Given the description of an element on the screen output the (x, y) to click on. 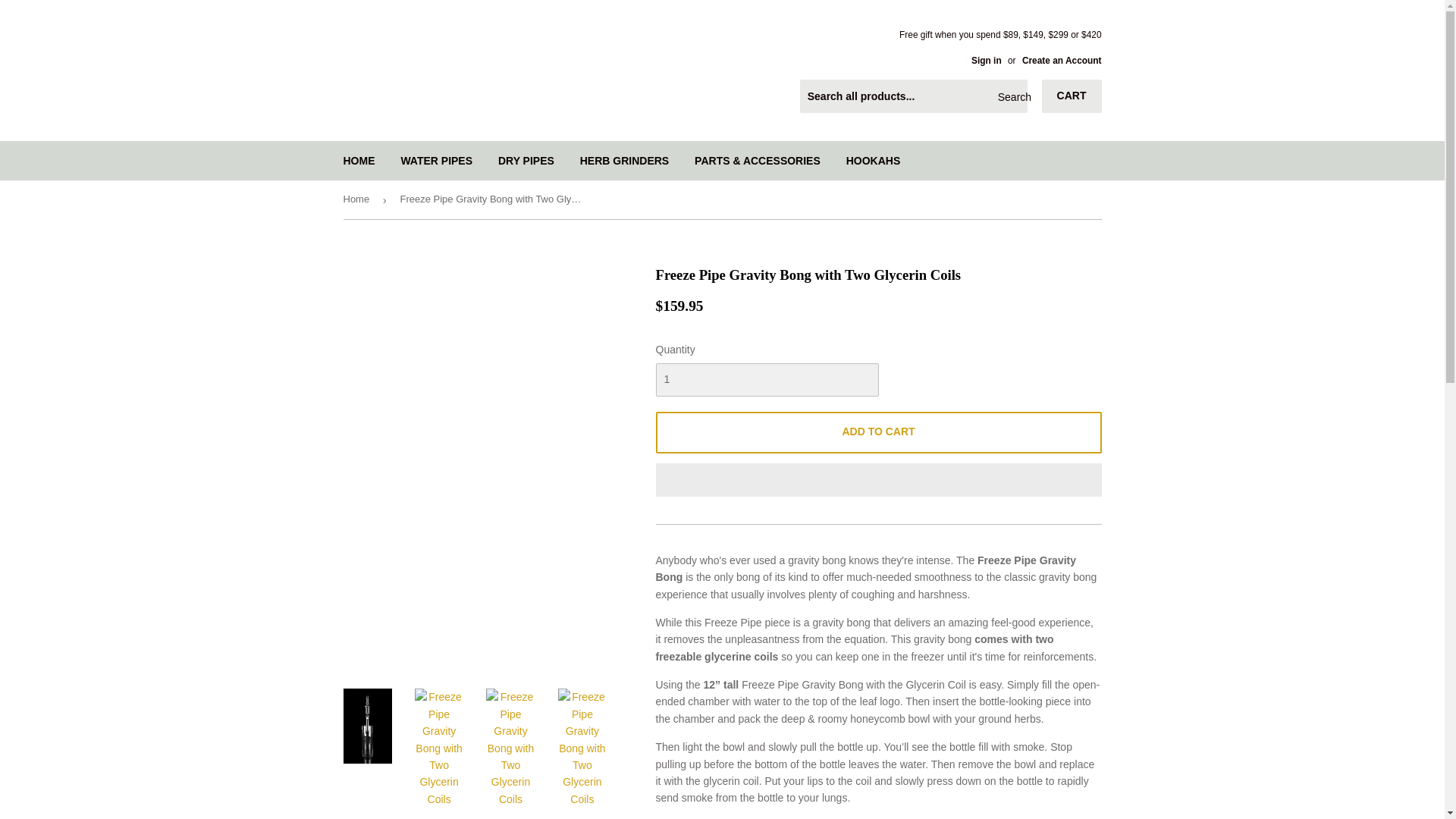
Create an Account (1062, 60)
CART (1072, 96)
HOME (359, 160)
Search (1009, 97)
HERB GRINDERS (624, 160)
HOOKAHS (873, 160)
1 (766, 379)
WATER PIPES (435, 160)
DRY PIPES (526, 160)
Sign in (986, 60)
